Given the description of an element on the screen output the (x, y) to click on. 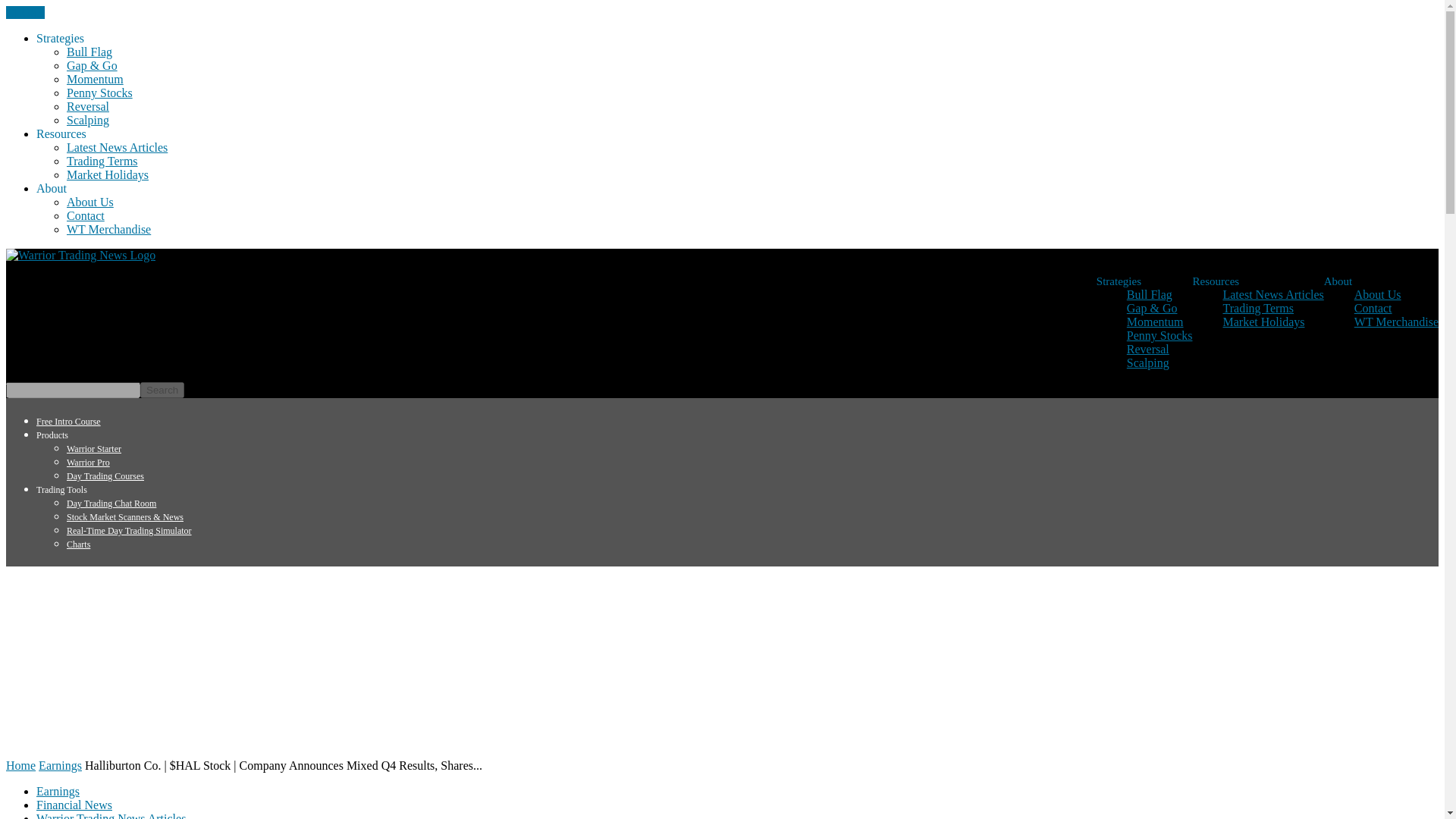
CLOSE (25, 11)
Momentum (94, 78)
Resources (60, 133)
Reversal (1147, 349)
Latest News Articles (1273, 294)
About (51, 187)
Bull Flag (89, 51)
Reversal (87, 106)
Resources (1215, 281)
Warrior Pro (88, 462)
Strategies (1118, 281)
About Us (1377, 294)
Products (52, 434)
Contact (1372, 308)
About (1337, 281)
